Given the description of an element on the screen output the (x, y) to click on. 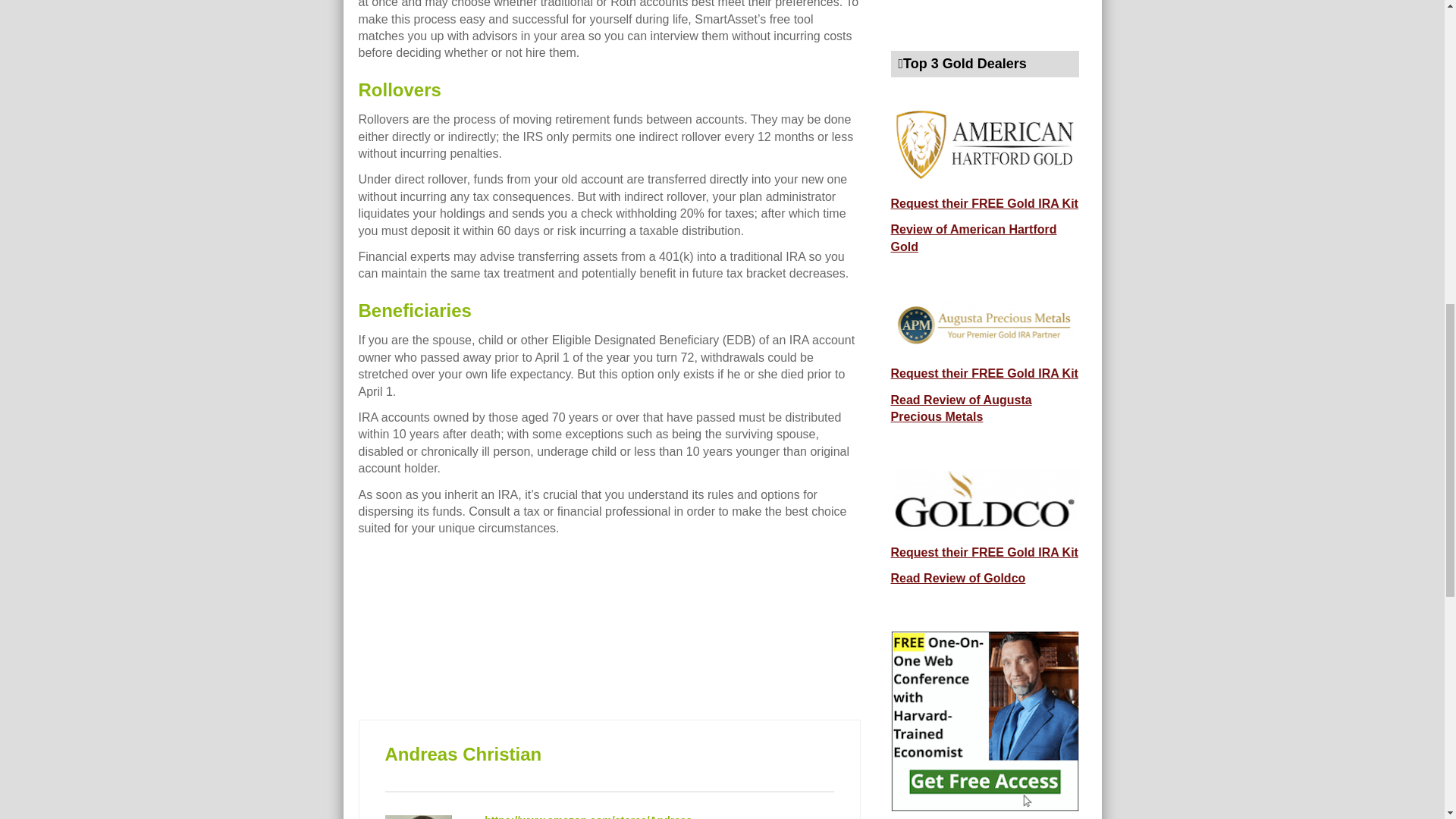
Read Review of Goldco (957, 577)
Andreas Christian (463, 753)
Review of American Hartford Gold (973, 237)
Request their FREE Gold IRA Kit (983, 203)
Request their FREE Gold IRA Kit (983, 373)
Read Review of Augusta Precious Metals (959, 408)
Request their FREE Gold IRA Kit (983, 552)
